Given the description of an element on the screen output the (x, y) to click on. 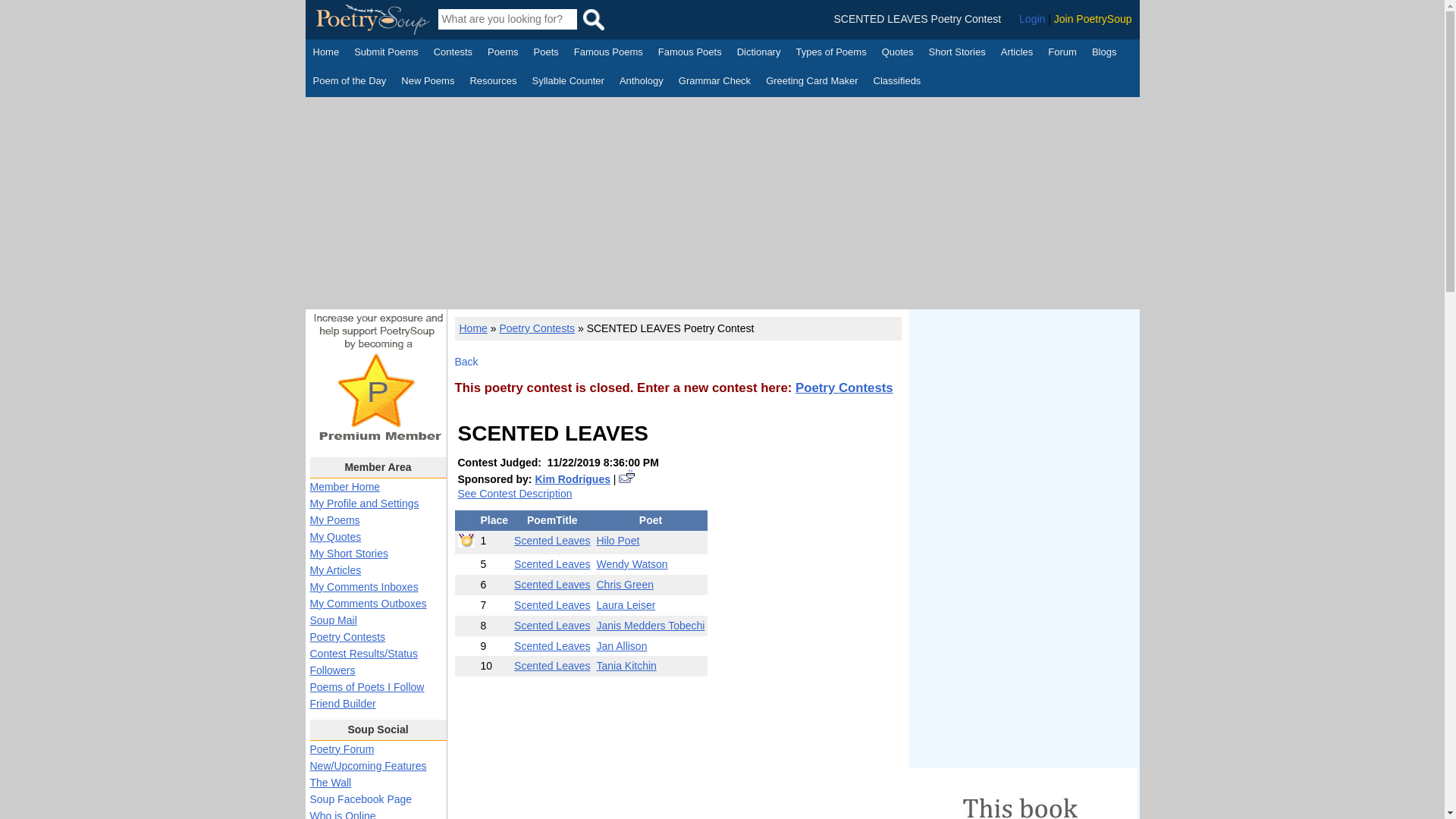
Anthology (641, 82)
Grammar Check (714, 82)
Resources (492, 82)
Types of Poems (830, 53)
My Quotes (334, 536)
Poetry Contests (452, 53)
Dictionary (758, 53)
PoetrySoup Registration (1093, 19)
PoetrySoup Home Page (326, 53)
Poets (546, 53)
